Given the description of an element on the screen output the (x, y) to click on. 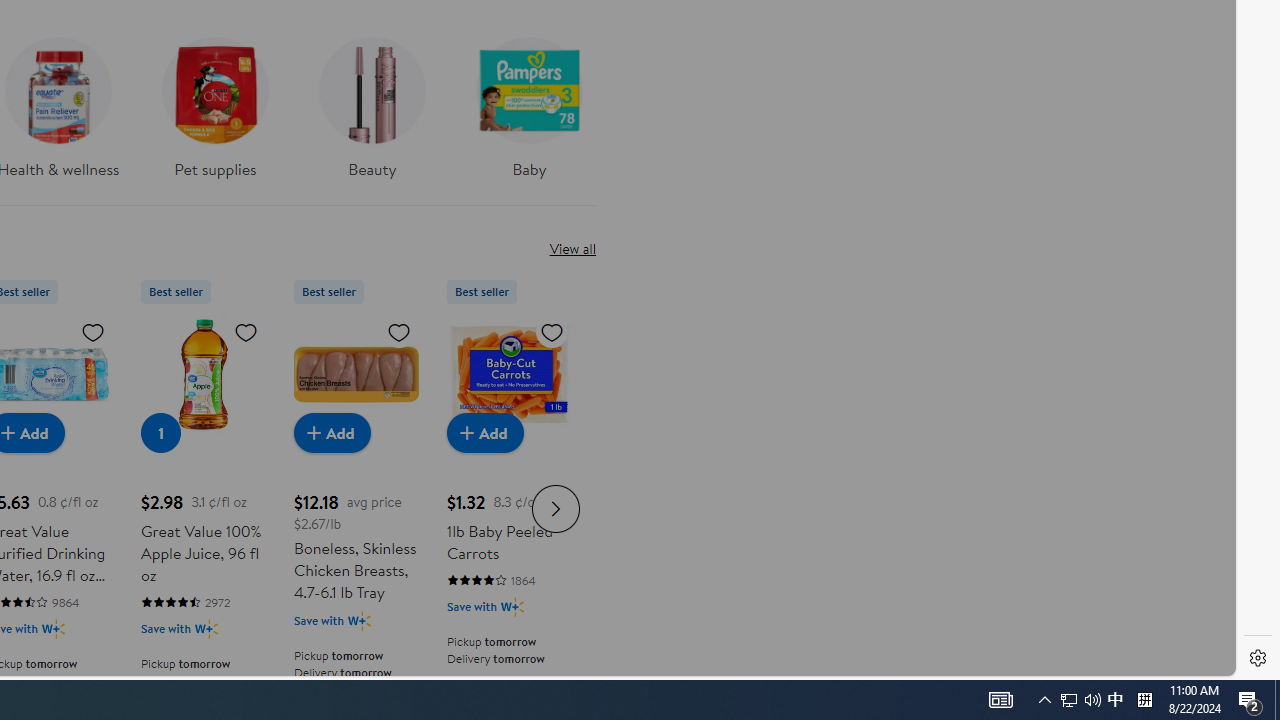
Next slide for Product Carousel list (555, 507)
Baby (529, 101)
1lb Baby Peeled Carrots (509, 374)
Baby (529, 114)
Walmart Plus (512, 606)
Add to cart - 1lb Baby Peeled Carrots (484, 431)
Boneless, Skinless Chicken Breasts, 4.7-6.1 lb Tray (356, 374)
Pet supplies (214, 114)
Beauty (371, 101)
Beauty (371, 114)
View all (572, 248)
